Given the description of an element on the screen output the (x, y) to click on. 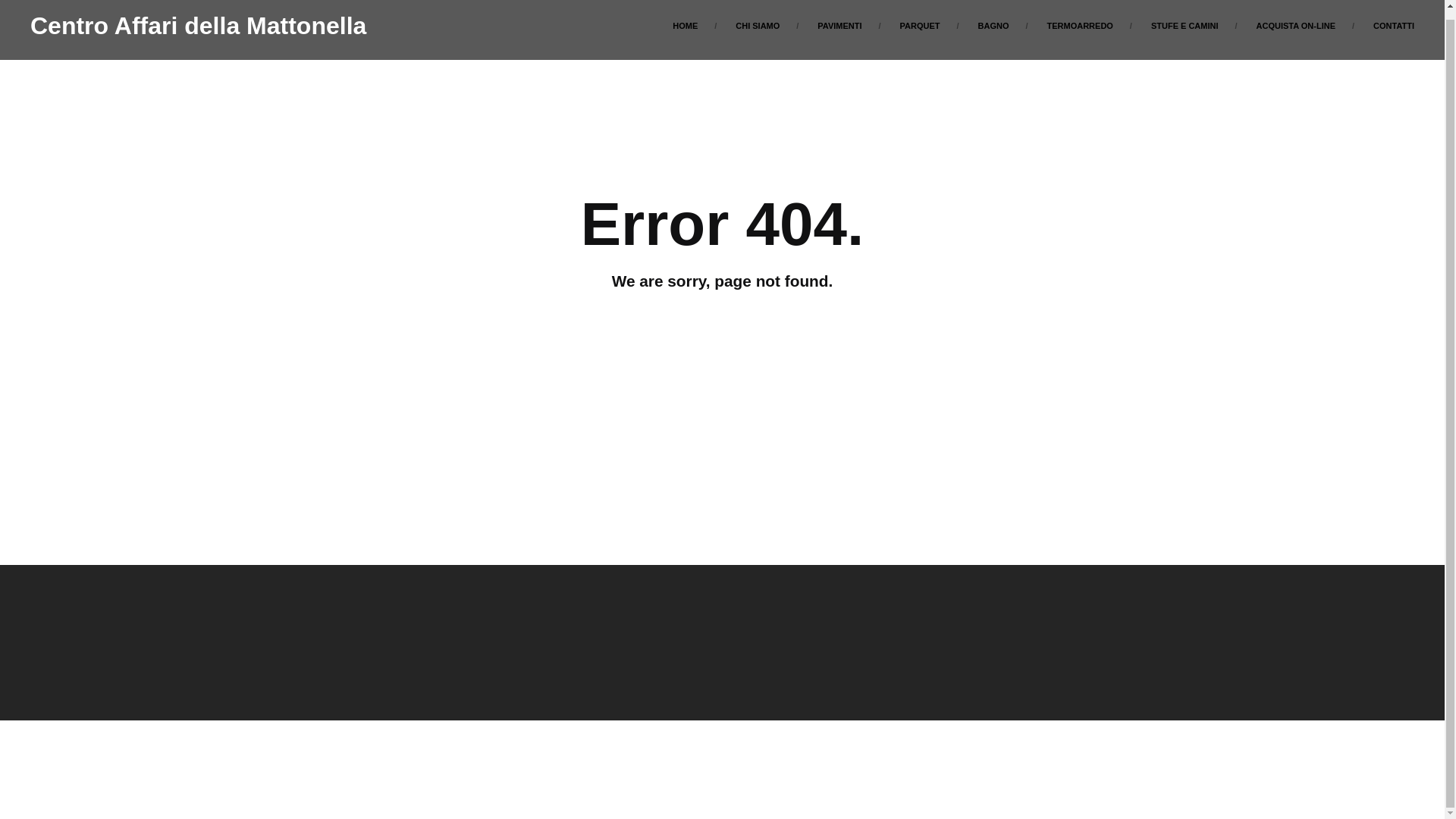
STUFE E CAMINI (1184, 29)
TERMOARREDO (1079, 29)
ACQUISTA ON-LINE (1296, 29)
BACK TO HOME (721, 338)
BACK TO HOME (721, 338)
Centro Affari della Mattonella (198, 25)
